Given the description of an element on the screen output the (x, y) to click on. 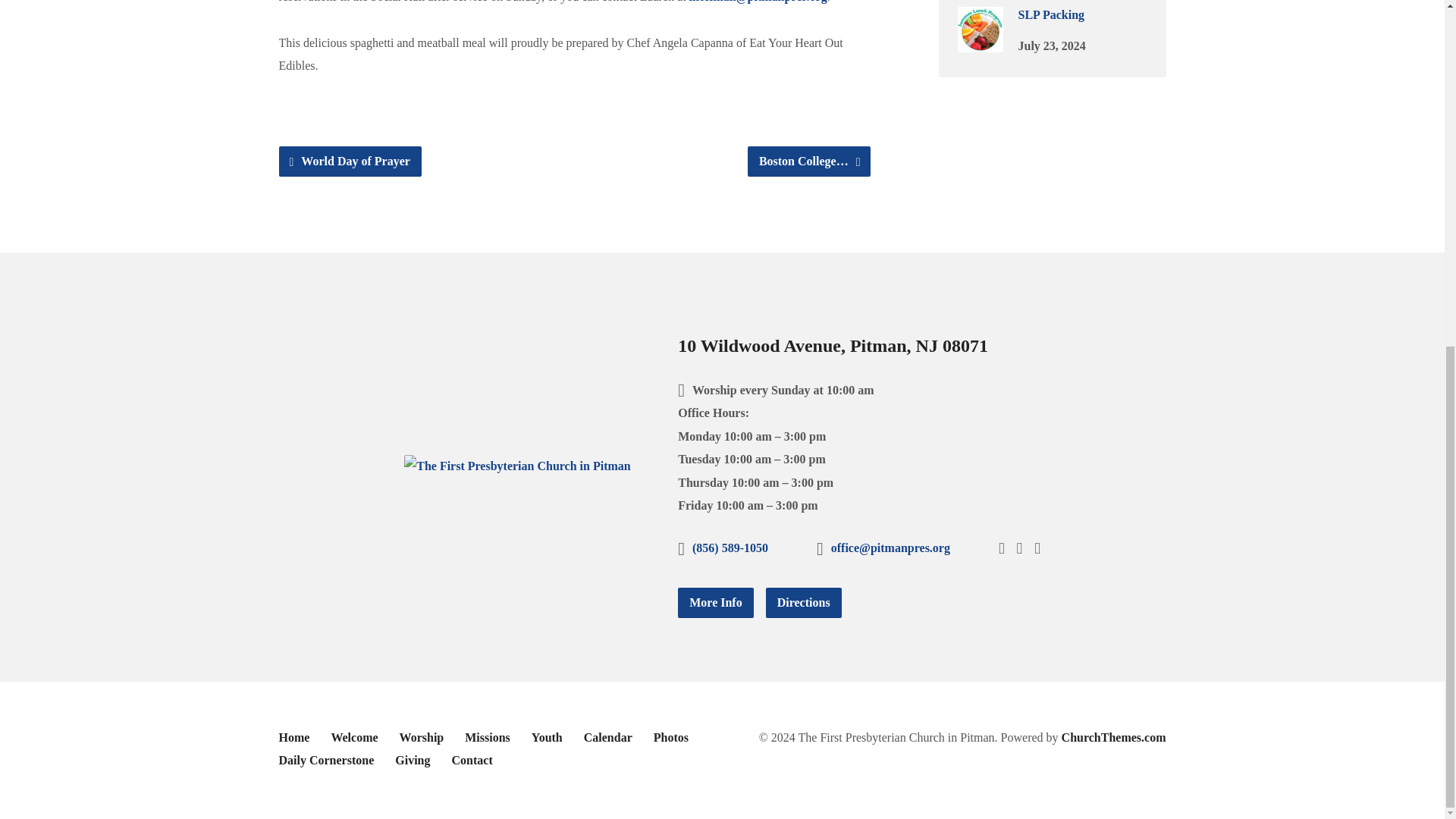
The First Presbyterian Church in Pitman (517, 465)
SLP Packing (979, 41)
SLP Packing (1050, 14)
